Given the description of an element on the screen output the (x, y) to click on. 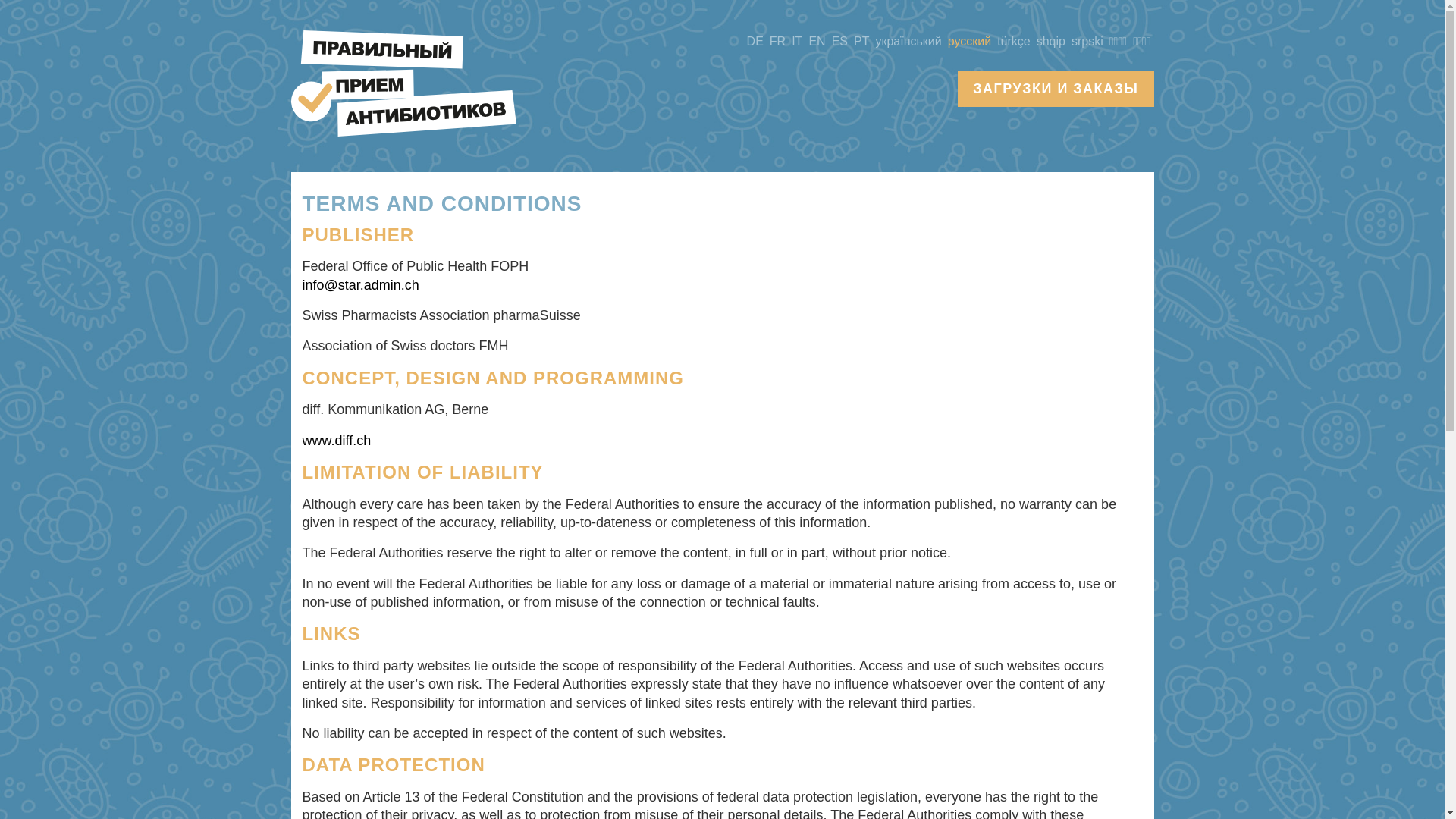
info@star.admin.ch Element type: text (359, 284)
DE Element type: text (754, 41)
shqip Element type: text (1050, 41)
ES Element type: text (839, 41)
www.diff.ch Element type: text (335, 440)
IT Element type: text (796, 41)
FR Element type: text (777, 41)
PT Element type: text (861, 41)
srpski Element type: text (1087, 41)
EN Element type: text (816, 41)
